Given the description of an element on the screen output the (x, y) to click on. 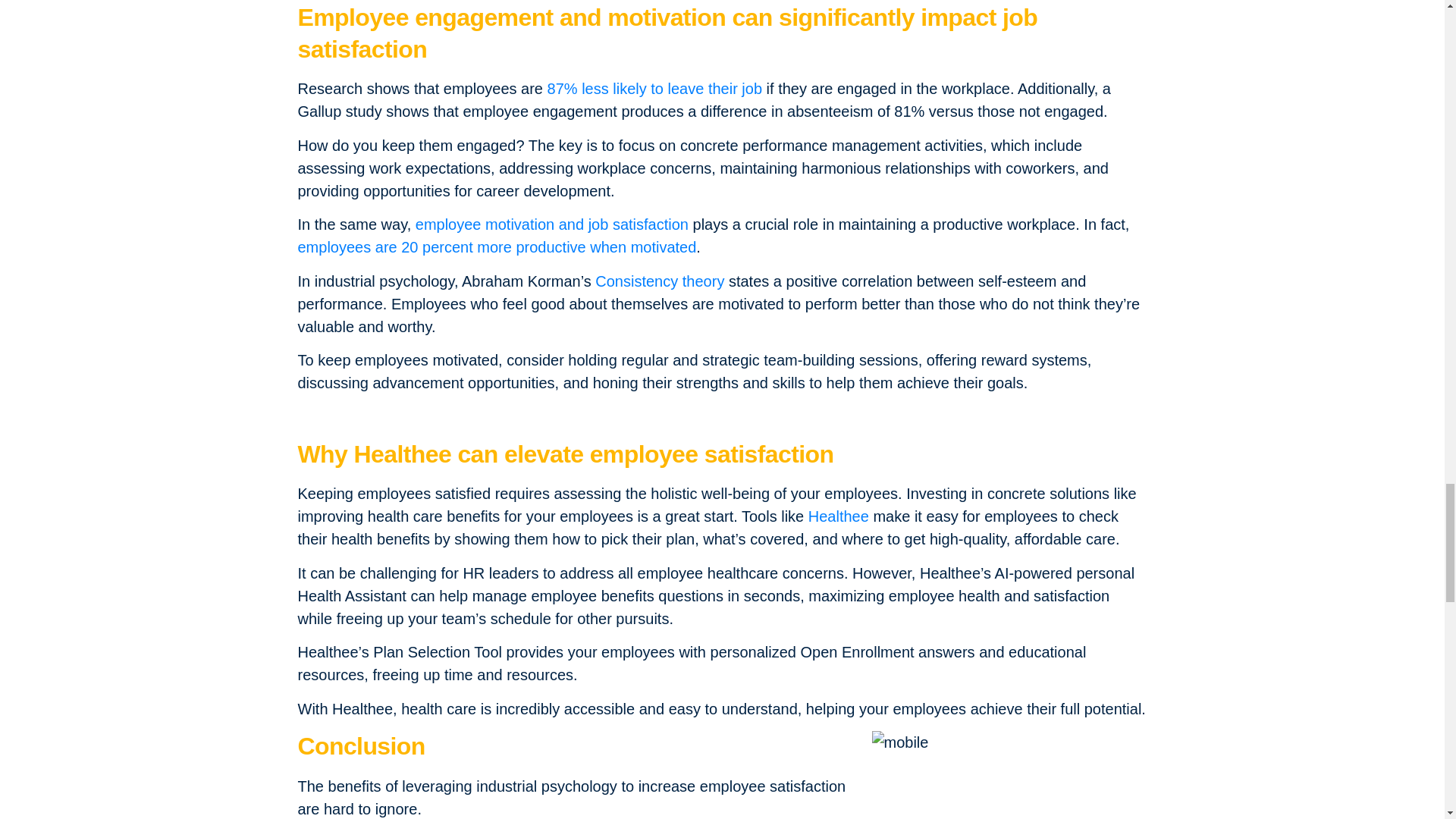
employee motivation and job satisfaction (551, 224)
Healthee (838, 515)
Consistency theory (659, 280)
employees are 20 percent more productive when motivated (496, 247)
